Given the description of an element on the screen output the (x, y) to click on. 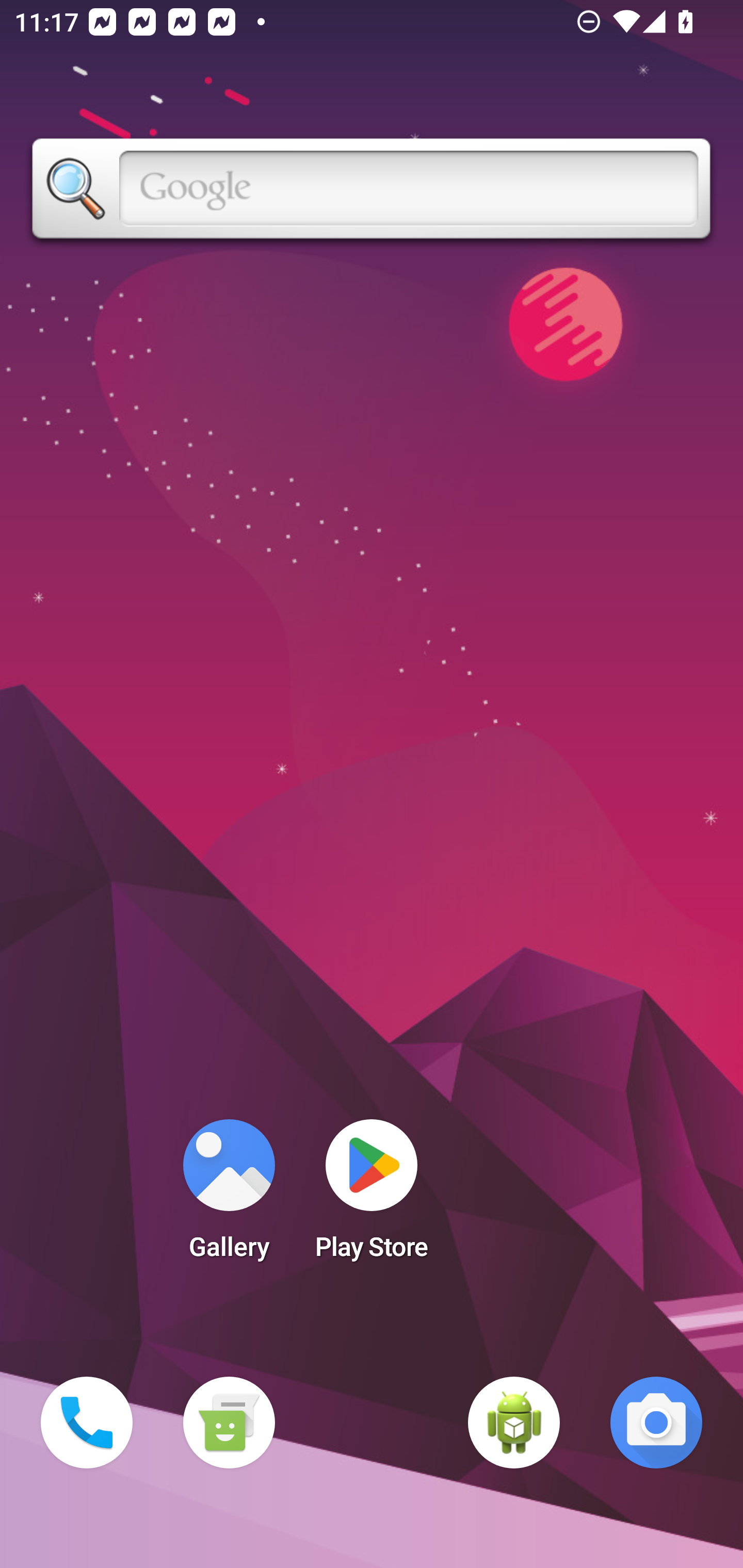
Gallery (228, 1195)
Play Store (371, 1195)
Phone (86, 1422)
Messaging (228, 1422)
WebView Browser Tester (513, 1422)
Camera (656, 1422)
